Given the description of an element on the screen output the (x, y) to click on. 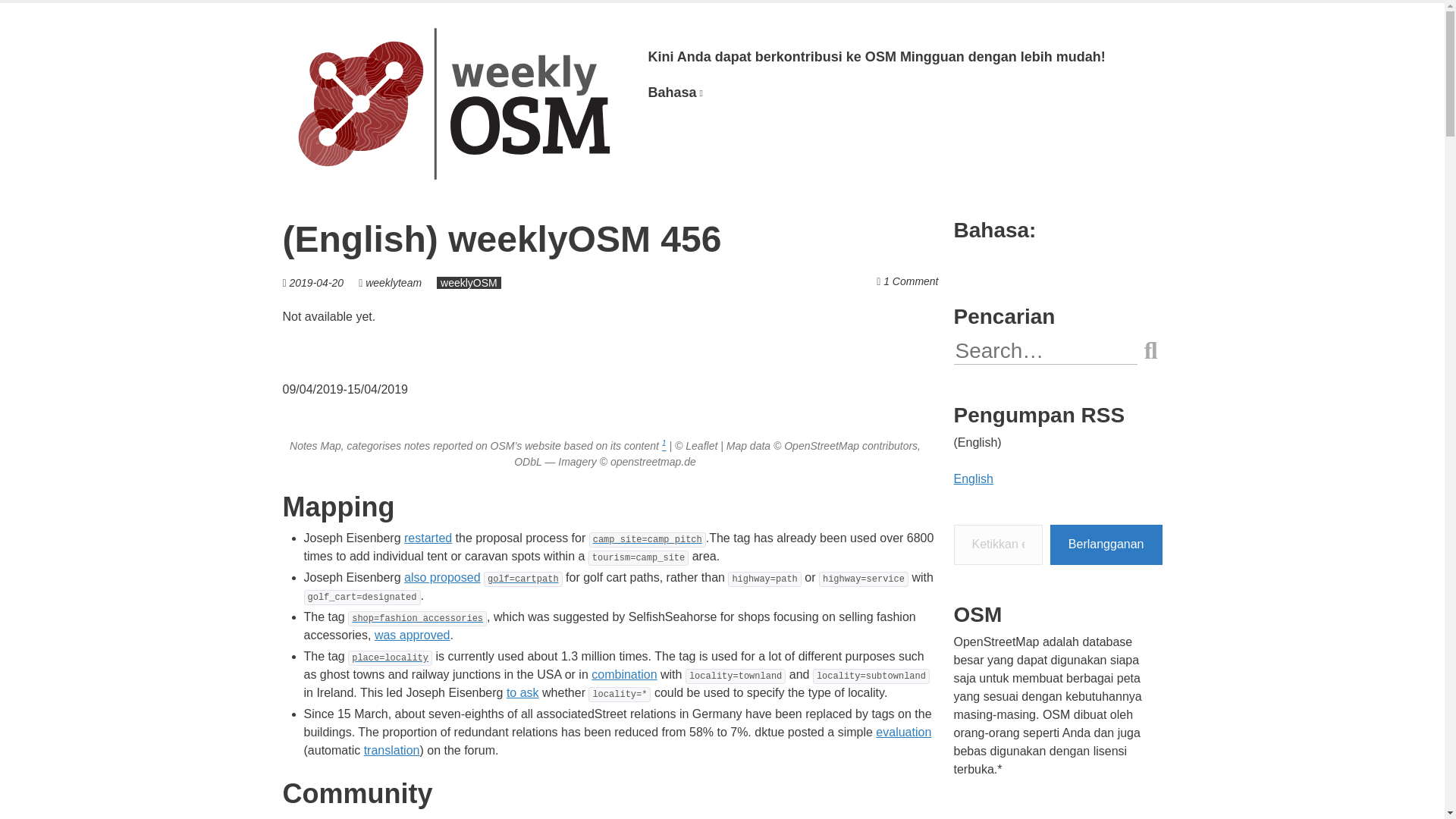
to ask (522, 692)
translation (392, 749)
restarted (427, 537)
also proposed (442, 576)
weeklyteam (393, 282)
1 (664, 445)
combination (623, 674)
was approved (411, 634)
1 Comment (910, 281)
weeklyOSM (468, 282)
evaluation (903, 731)
Bahasa Indonesia (675, 92)
